Given the description of an element on the screen output the (x, y) to click on. 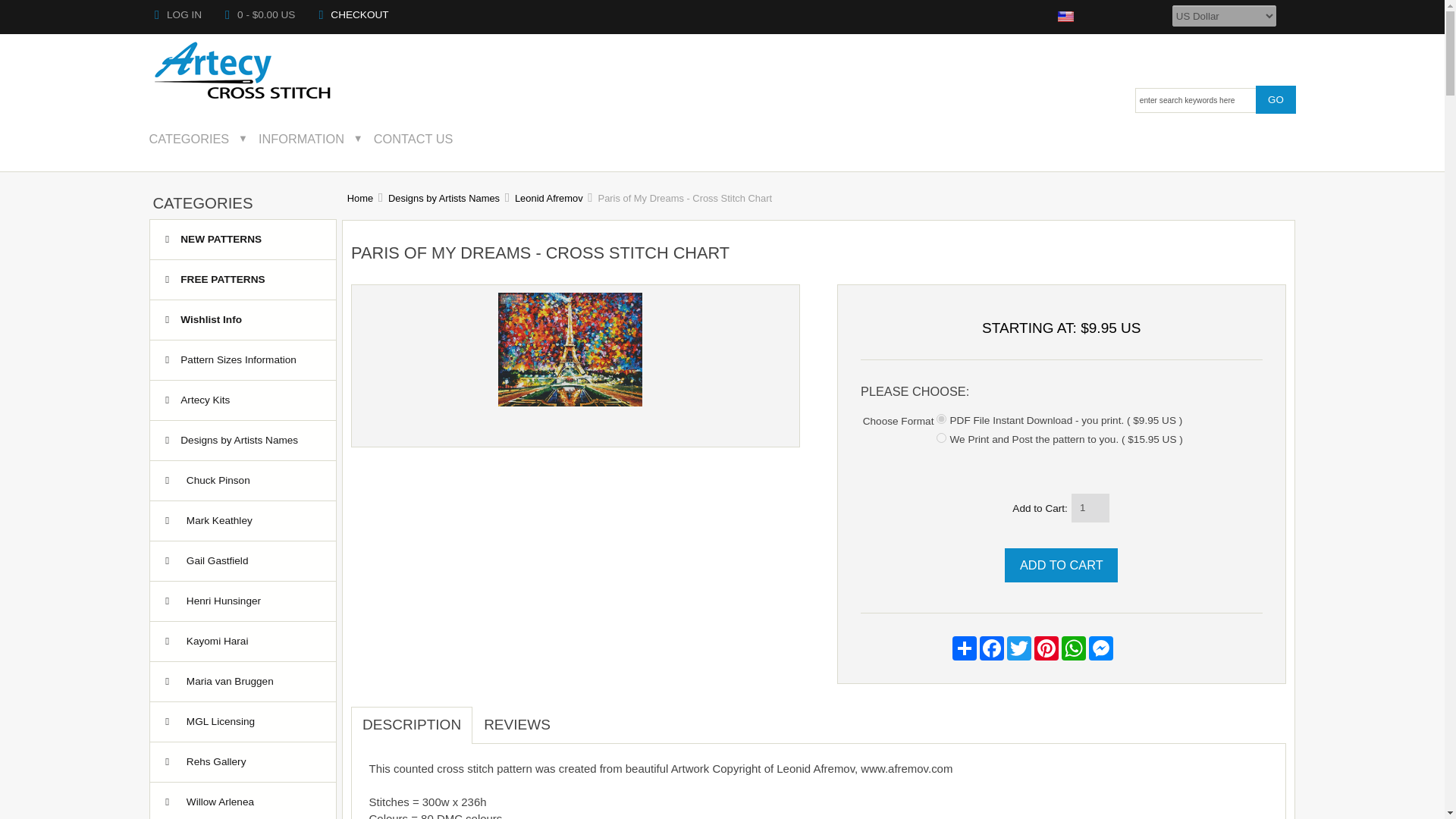
Enter search keywords here (1195, 100)
CATEGORIES (199, 138)
Enter search keywords here (1195, 100)
Artecy Cross Stitch (243, 71)
LOG IN (177, 14)
2 (941, 438)
go (1275, 99)
1 (941, 419)
1 (1090, 507)
Paris of My Dreams - Cross Stitch Chart (570, 349)
Paris of My Dreams - Cross Stitch Chart (570, 402)
go (1275, 99)
Add to Cart (1061, 564)
English (1066, 16)
CHECKOUT (353, 14)
